Given the description of an element on the screen output the (x, y) to click on. 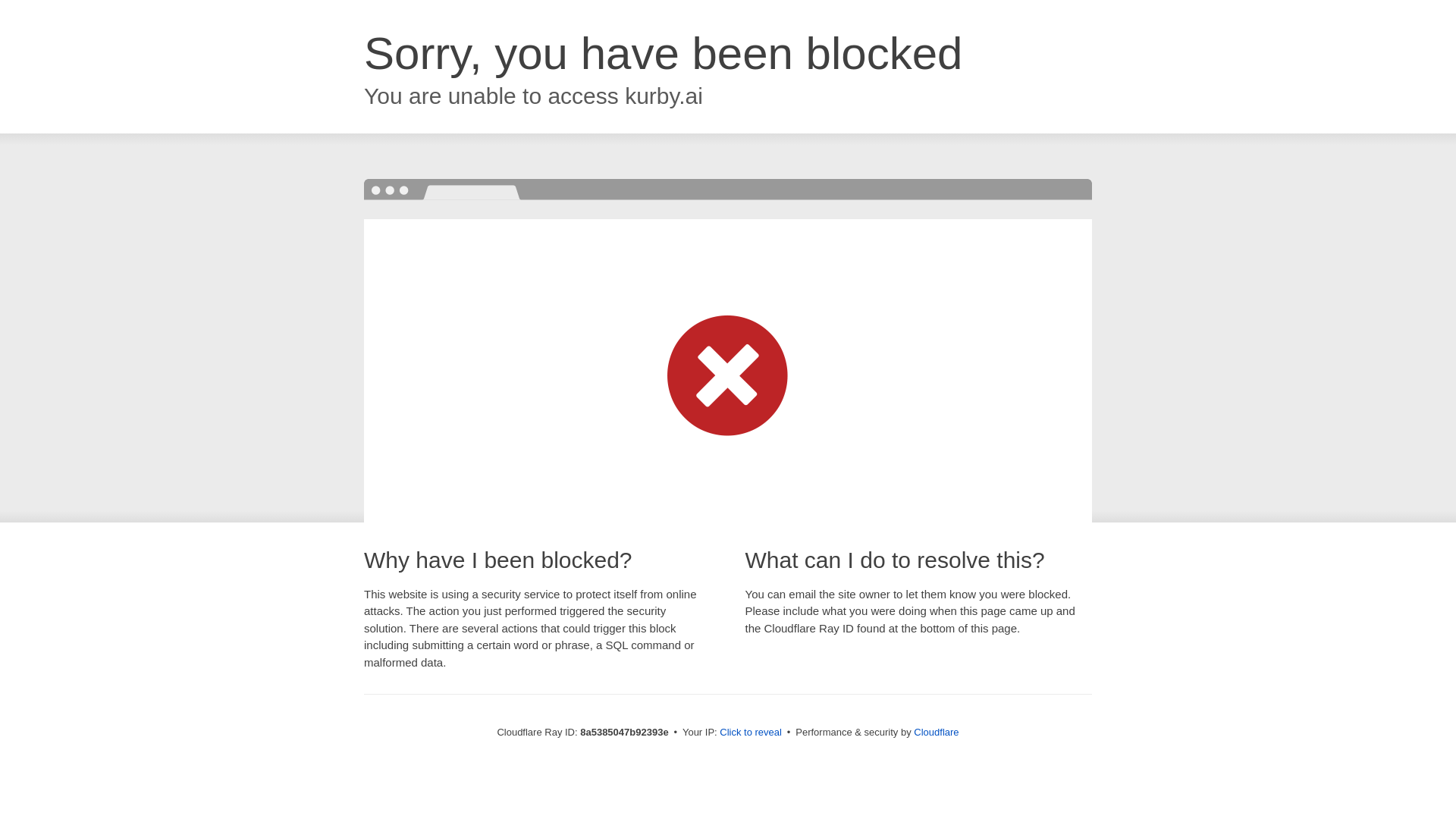
Click to reveal (750, 732)
Cloudflare (936, 731)
